Given the description of an element on the screen output the (x, y) to click on. 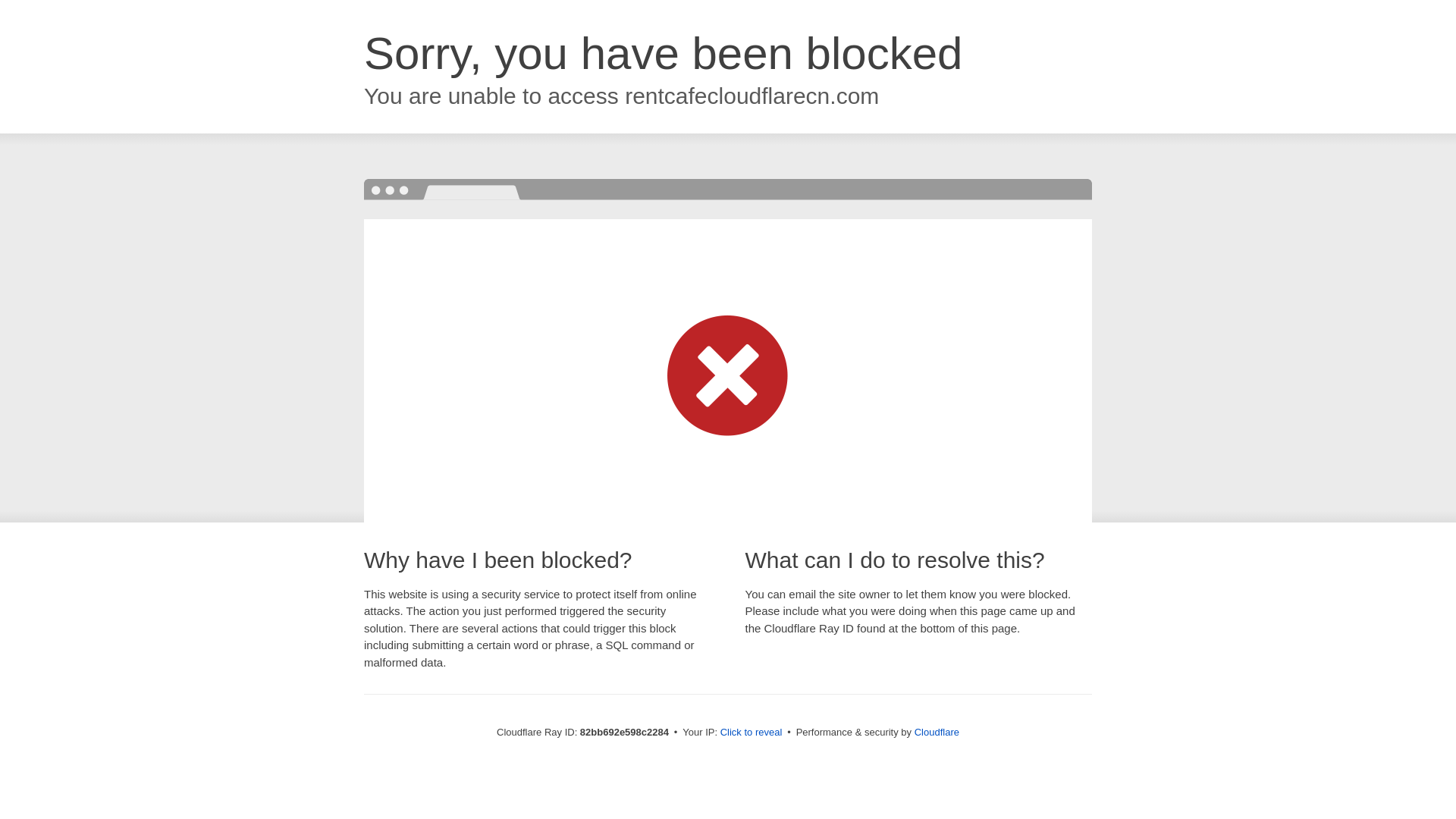
Cloudflare Element type: text (936, 731)
Click to reveal Element type: text (751, 732)
